Given the description of an element on the screen output the (x, y) to click on. 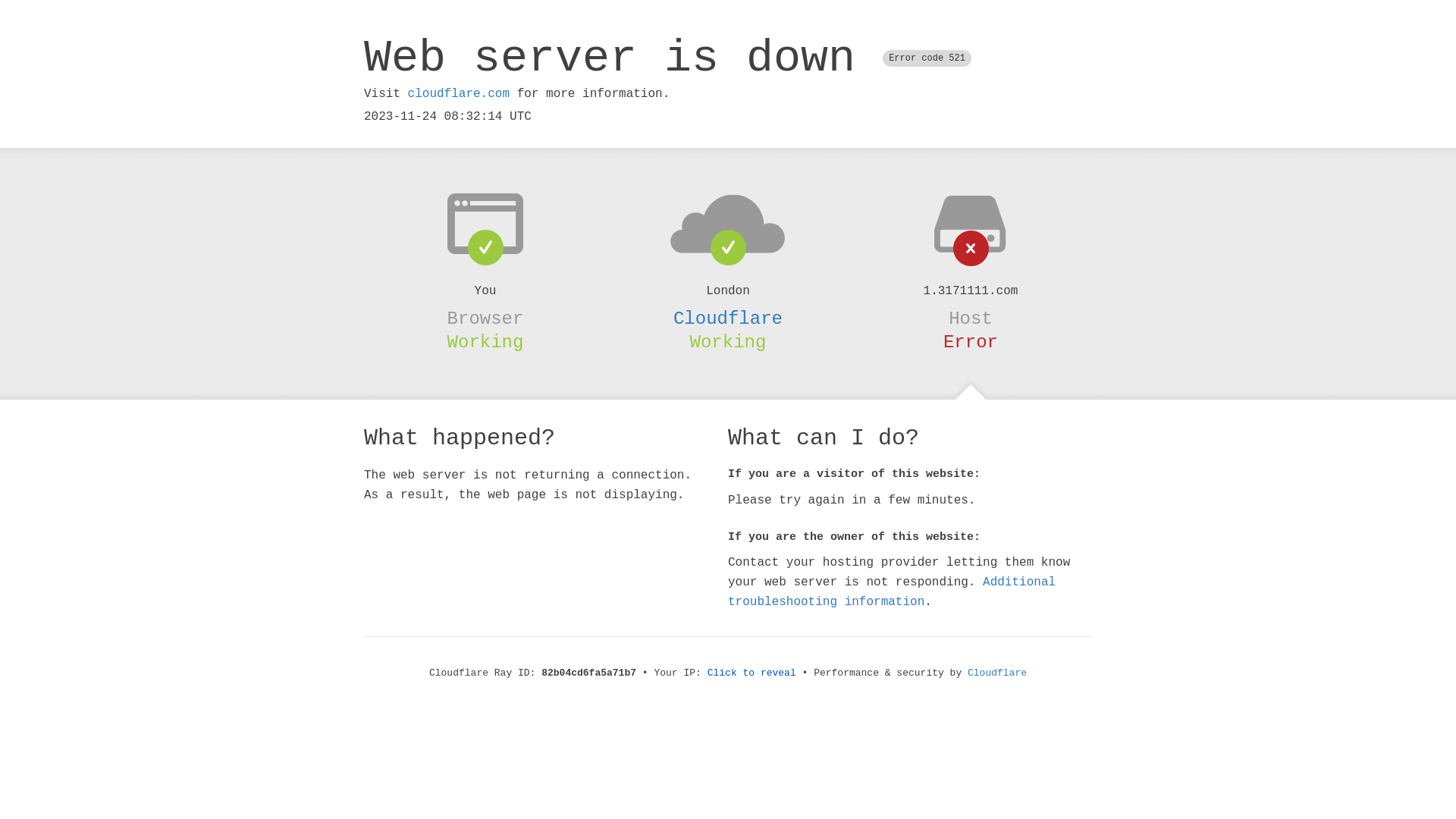
cloudflare.com Element type: text (458, 93)
Cloudflare Element type: text (996, 672)
Additional troubleshooting information Element type: text (891, 591)
Click to reveal Element type: text (751, 672)
Cloudflare Element type: text (727, 318)
